Given the description of an element on the screen output the (x, y) to click on. 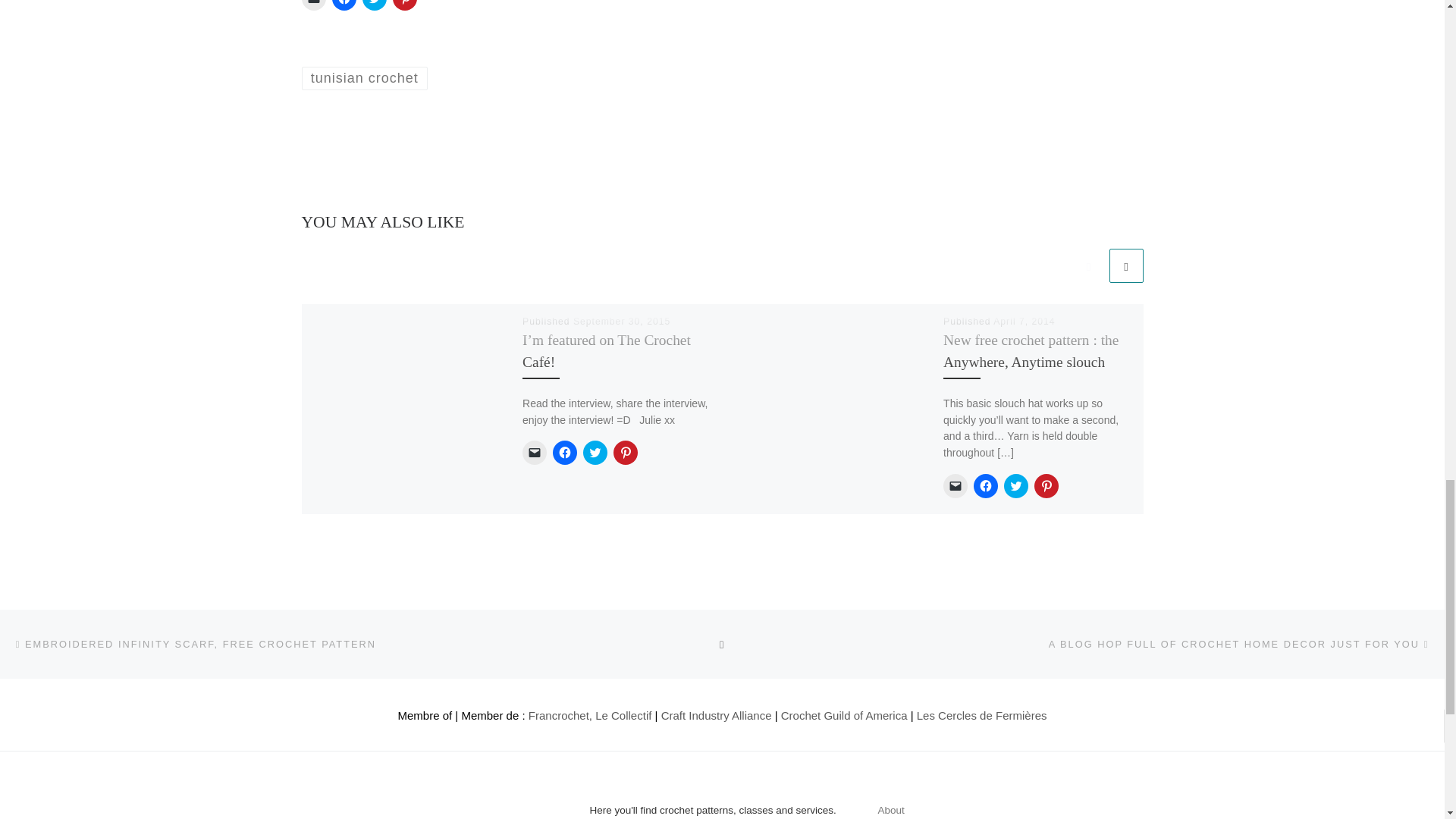
Click to share on Facebook (343, 5)
Click to share on Pinterest (404, 5)
Previous related articles (1088, 265)
Click to share on Twitter (374, 5)
Click to email a link to a friend (313, 5)
View all posts in tunisian crochet (364, 78)
